Given the description of an element on the screen output the (x, y) to click on. 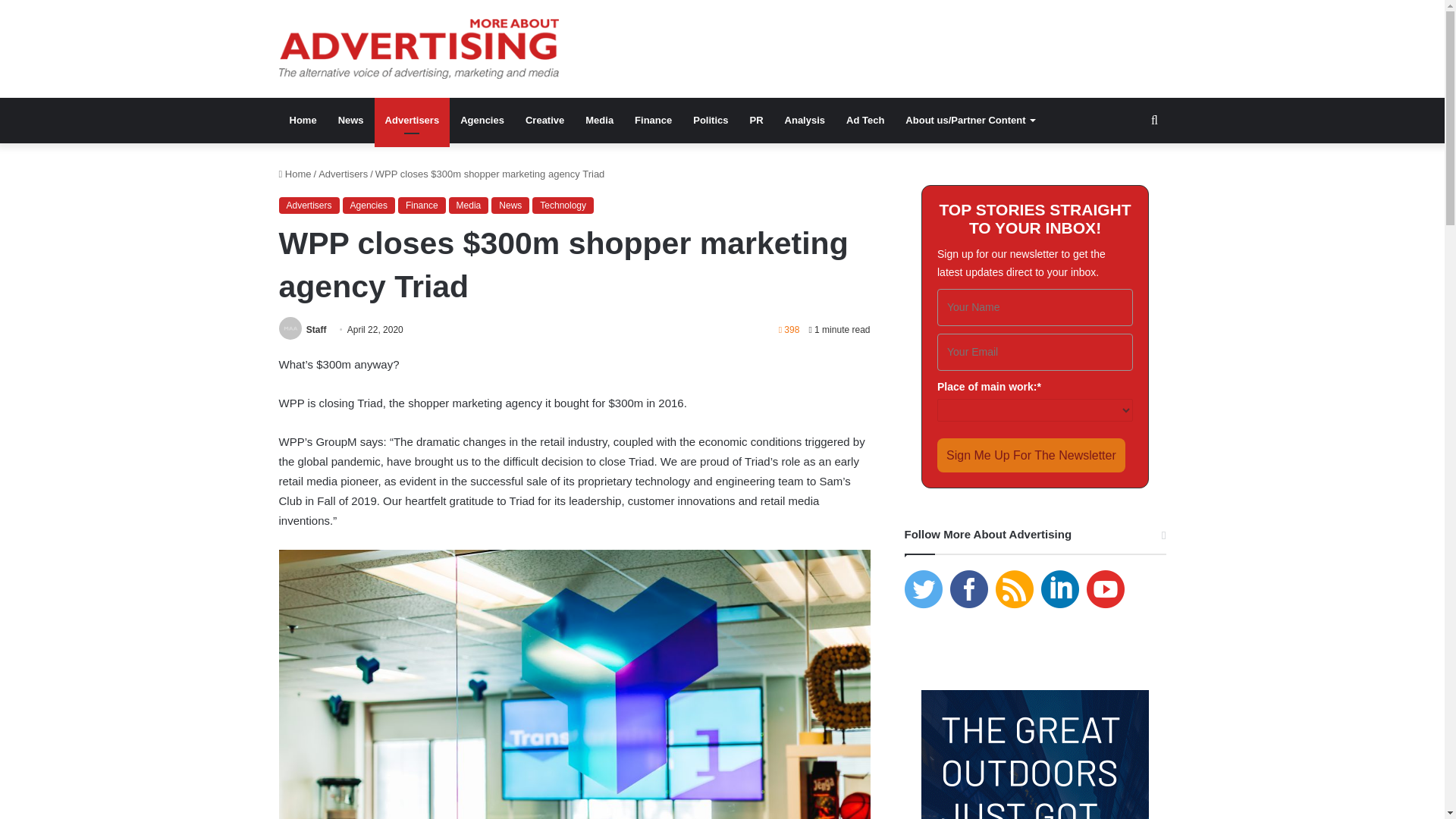
Agencies (368, 205)
Advertisers (411, 120)
Home (295, 173)
Staff (315, 329)
Creative (545, 120)
Agencies (482, 120)
PR (755, 120)
Media (599, 120)
Technology (563, 205)
Search for (1154, 120)
Analysis (804, 120)
Finance (653, 120)
Home (303, 120)
Media (468, 205)
News (510, 205)
